Given the description of an element on the screen output the (x, y) to click on. 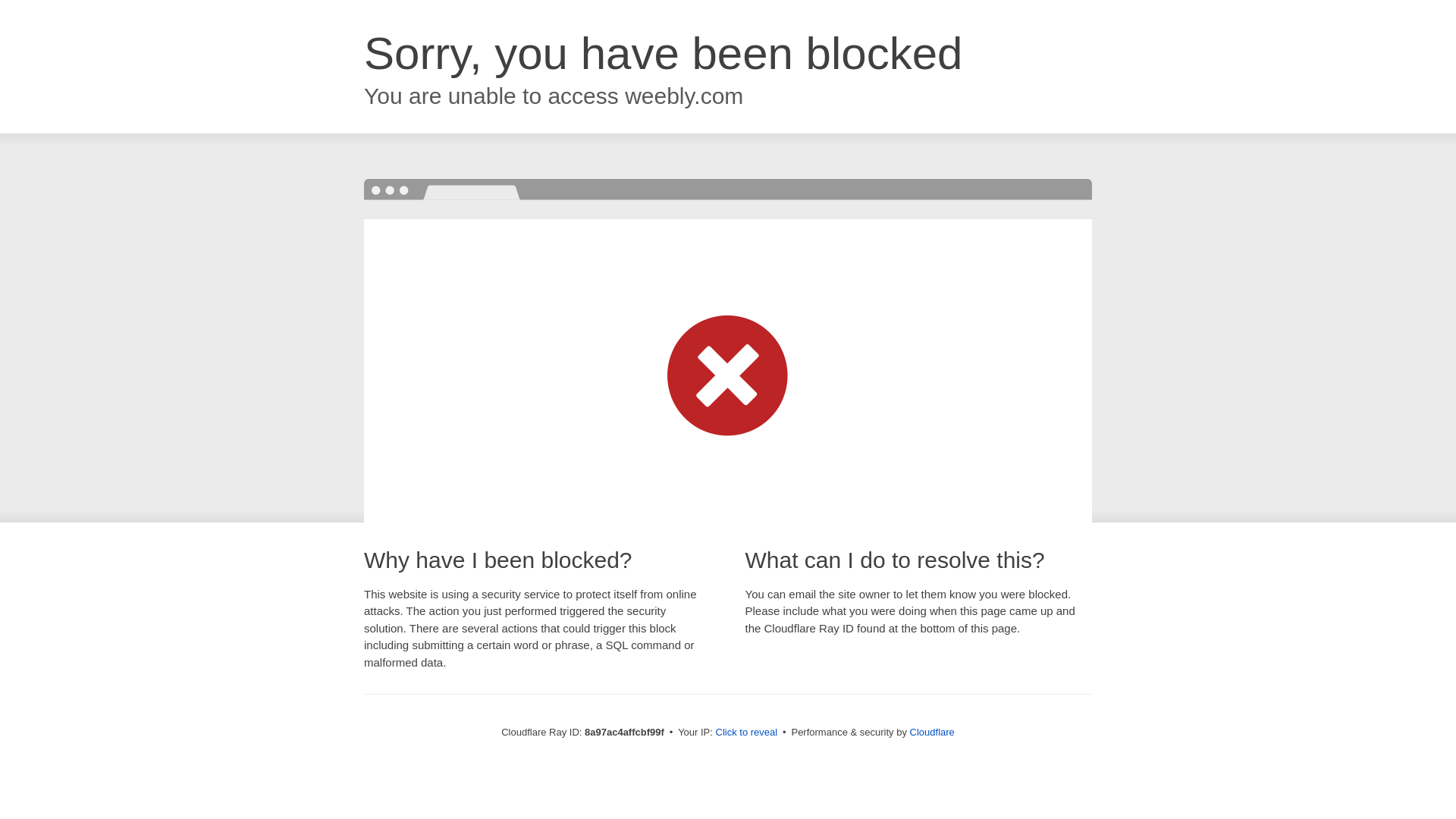
Cloudflare (932, 731)
Click to reveal (746, 732)
